Given the description of an element on the screen output the (x, y) to click on. 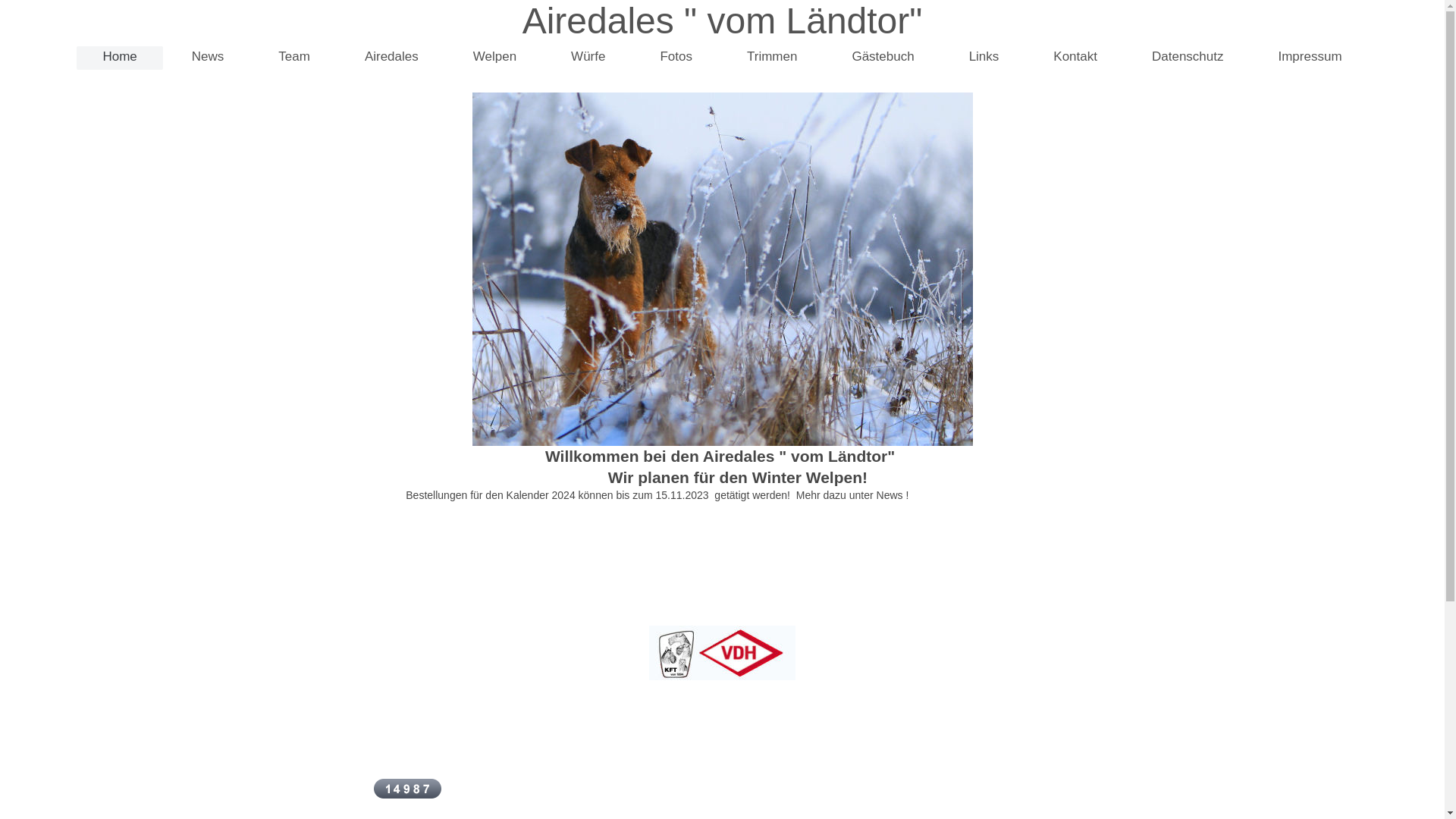
News Element type: text (208, 57)
Trimmen Element type: text (771, 57)
Datenschutz Element type: text (1187, 57)
Fotos Element type: text (675, 57)
Impressum Element type: text (1309, 57)
Welpen Element type: text (494, 57)
Kontakt Element type: text (1075, 57)
Links Element type: text (984, 57)
Team Element type: text (293, 57)
Home Element type: text (119, 57)
Airedales Element type: text (391, 57)
